Given the description of an element on the screen output the (x, y) to click on. 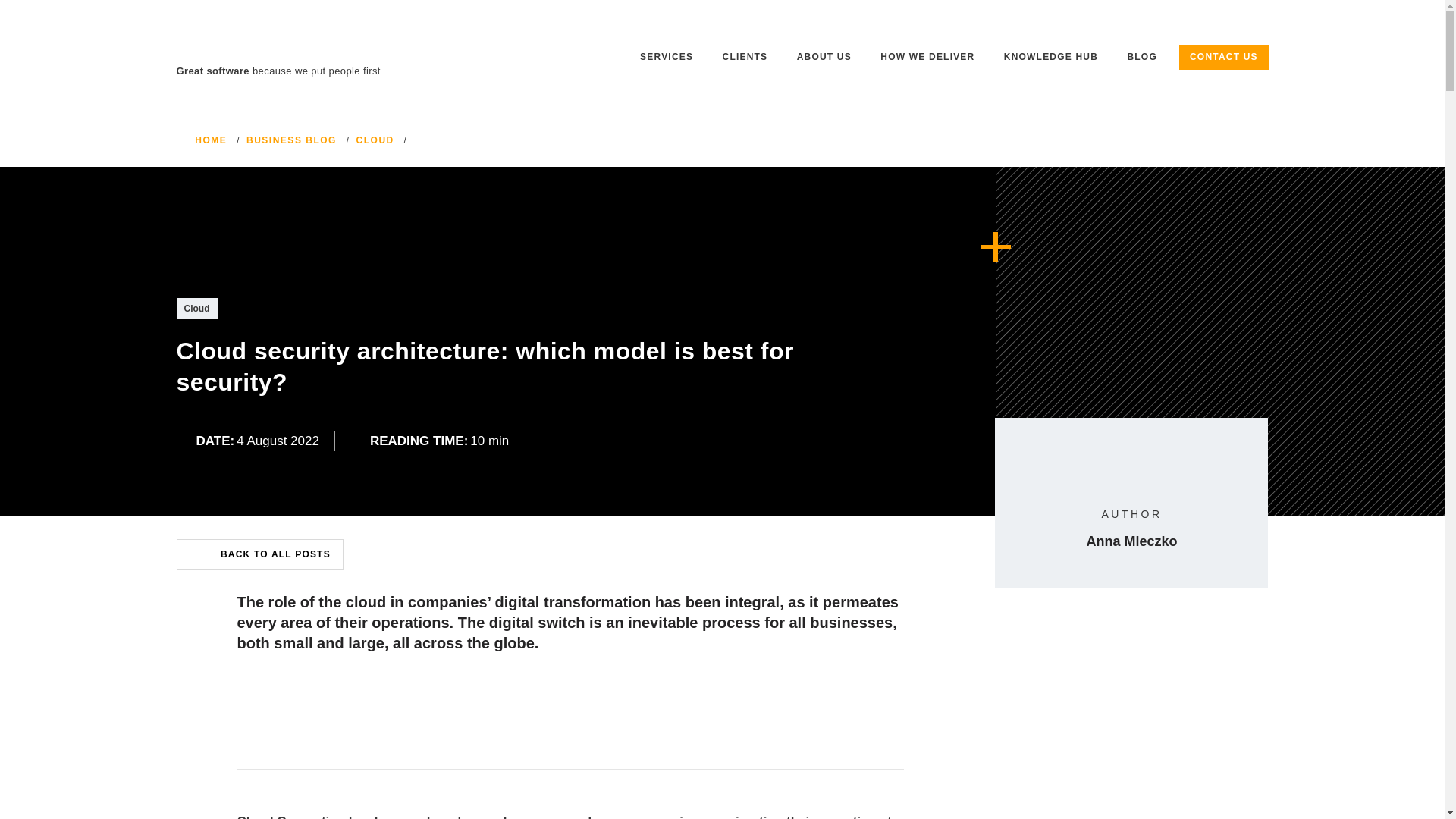
BLOG (1142, 57)
CLOUD (375, 140)
ABOUT US (823, 57)
HOW WE DELIVER (928, 57)
BUSINESS BLOG (291, 140)
BACK TO ALL POSTS (259, 553)
KNOWLEDGE HUB (1051, 57)
Anna Mleczko (1131, 553)
CLIENTS (744, 57)
SERVICES (666, 57)
CONTACT US (1223, 57)
HOME (201, 140)
